Given the description of an element on the screen output the (x, y) to click on. 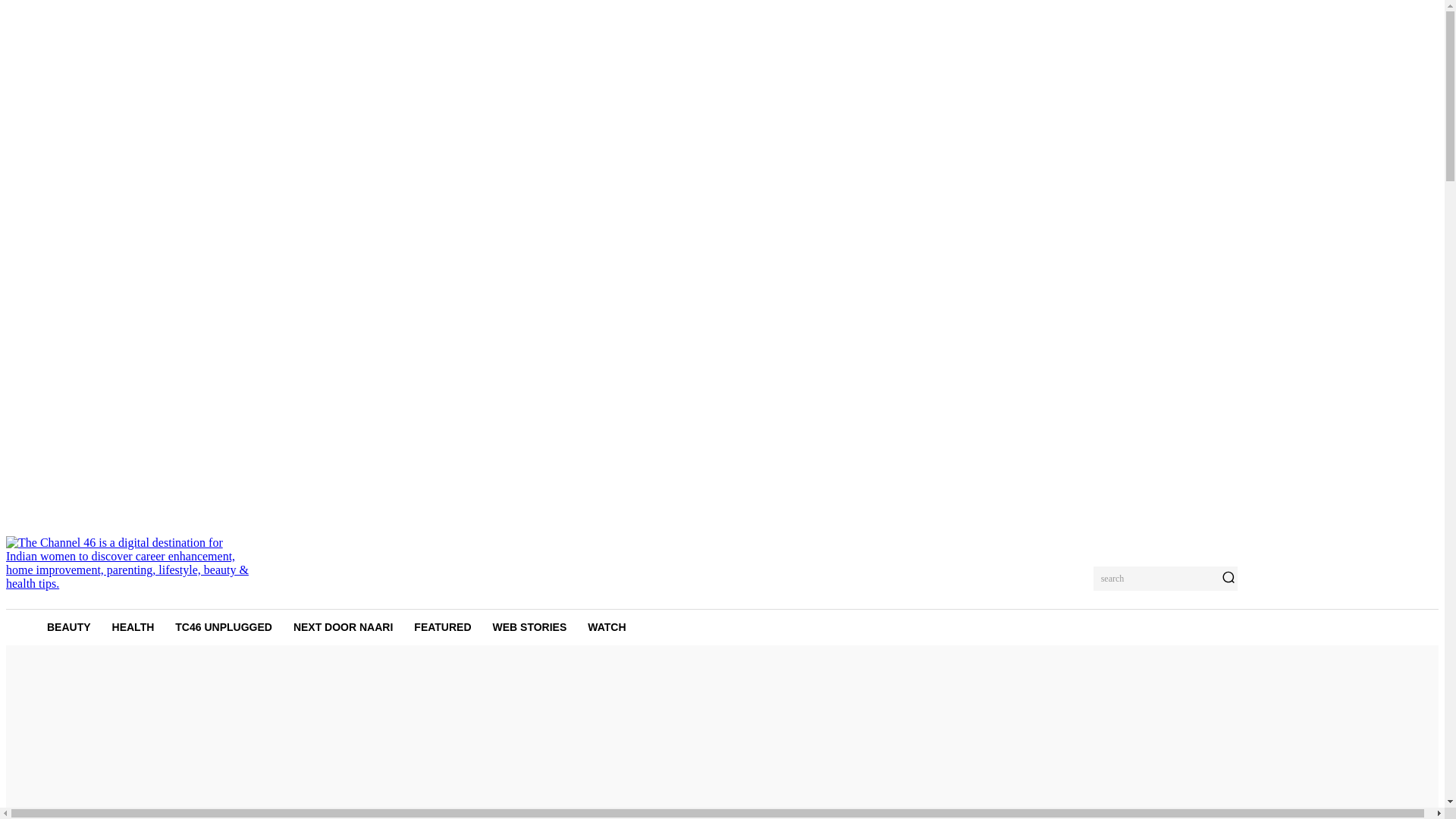
BEAUTY (68, 627)
